Given the description of an element on the screen output the (x, y) to click on. 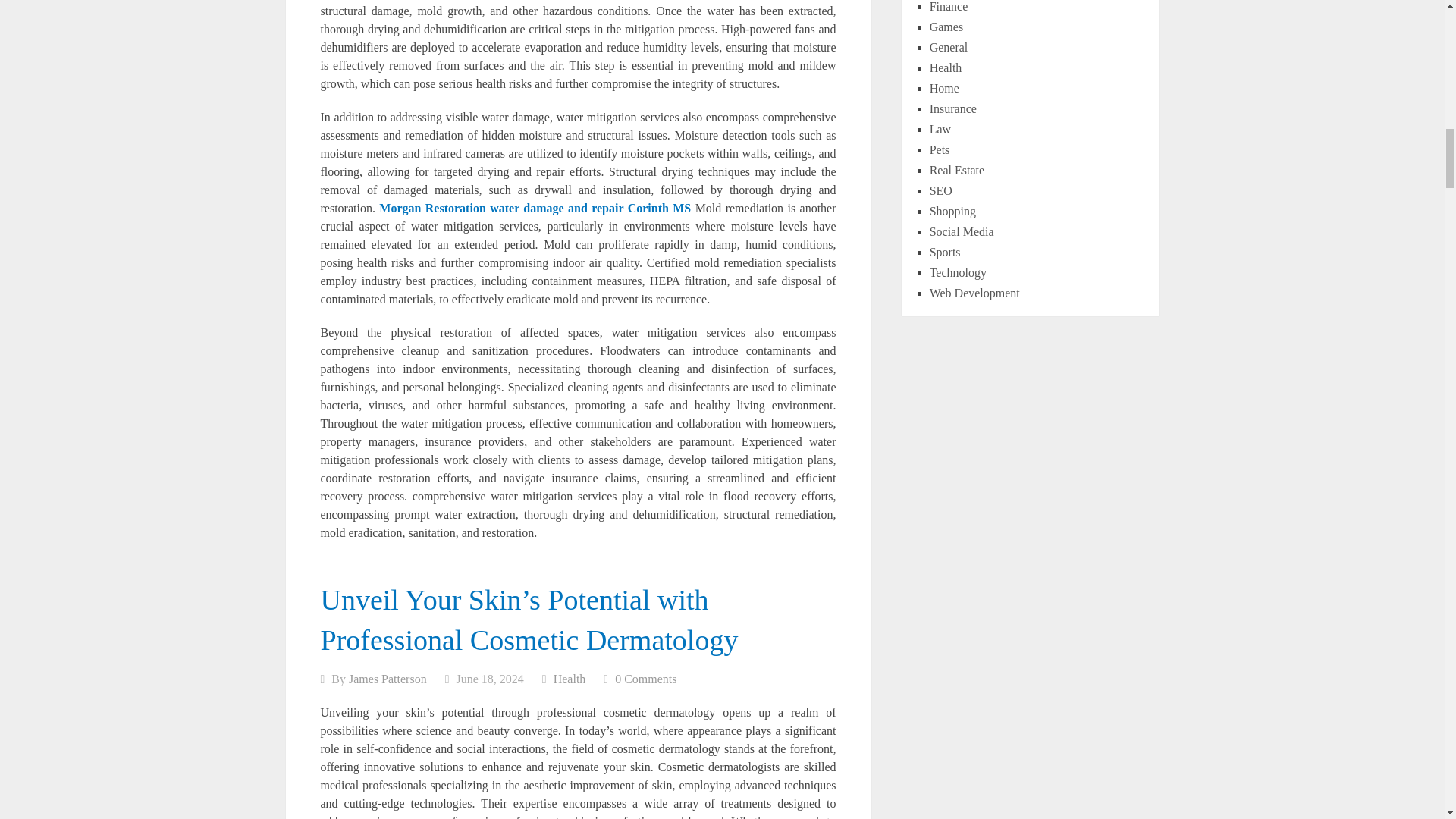
Morgan Restoration water damage and repair Corinth MS (534, 207)
Health (569, 678)
0 Comments (645, 678)
James Patterson (387, 678)
Posts by James Patterson (387, 678)
